Given the description of an element on the screen output the (x, y) to click on. 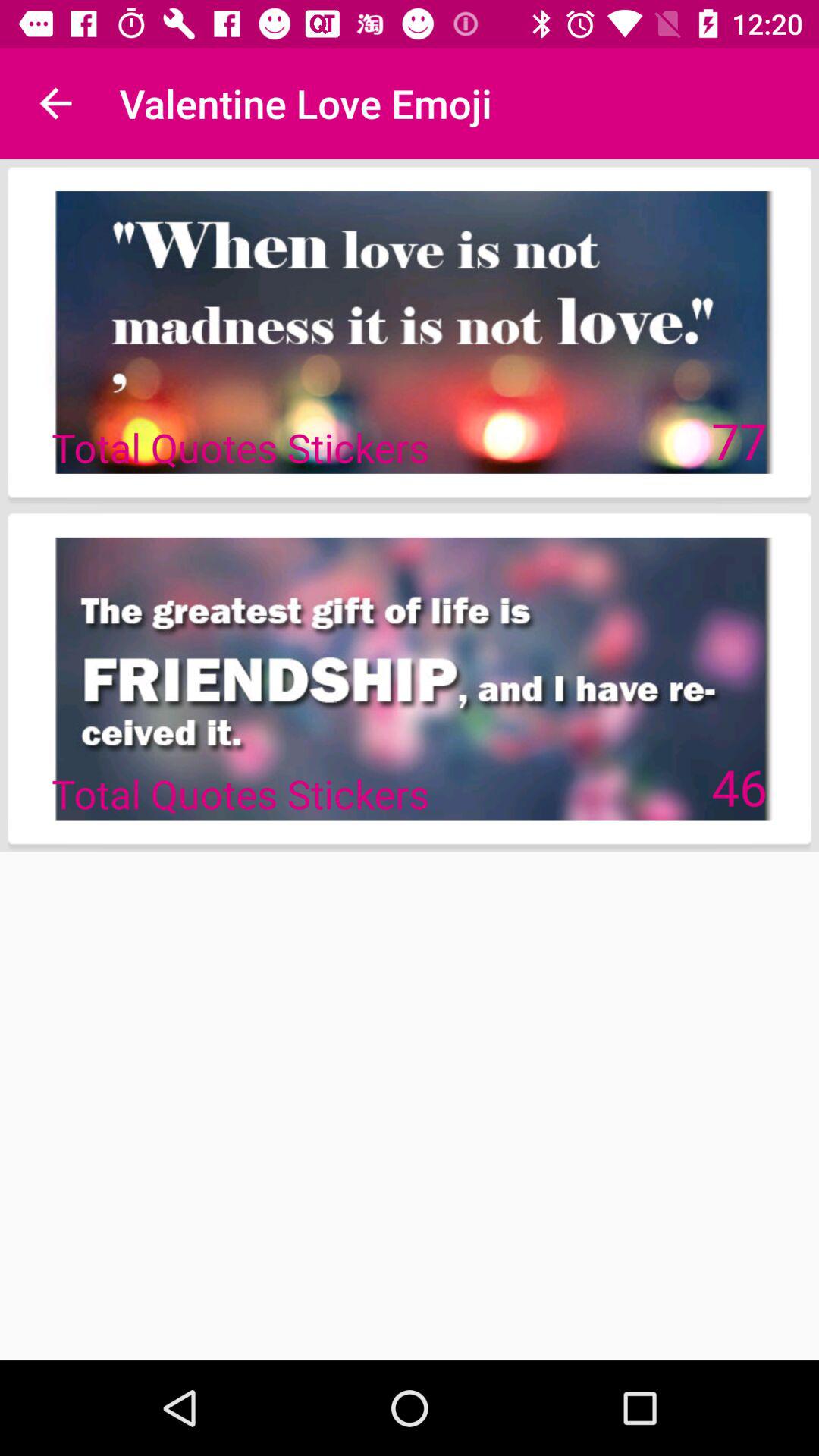
press the icon to the right of the total quotes stickers item (739, 786)
